Given the description of an element on the screen output the (x, y) to click on. 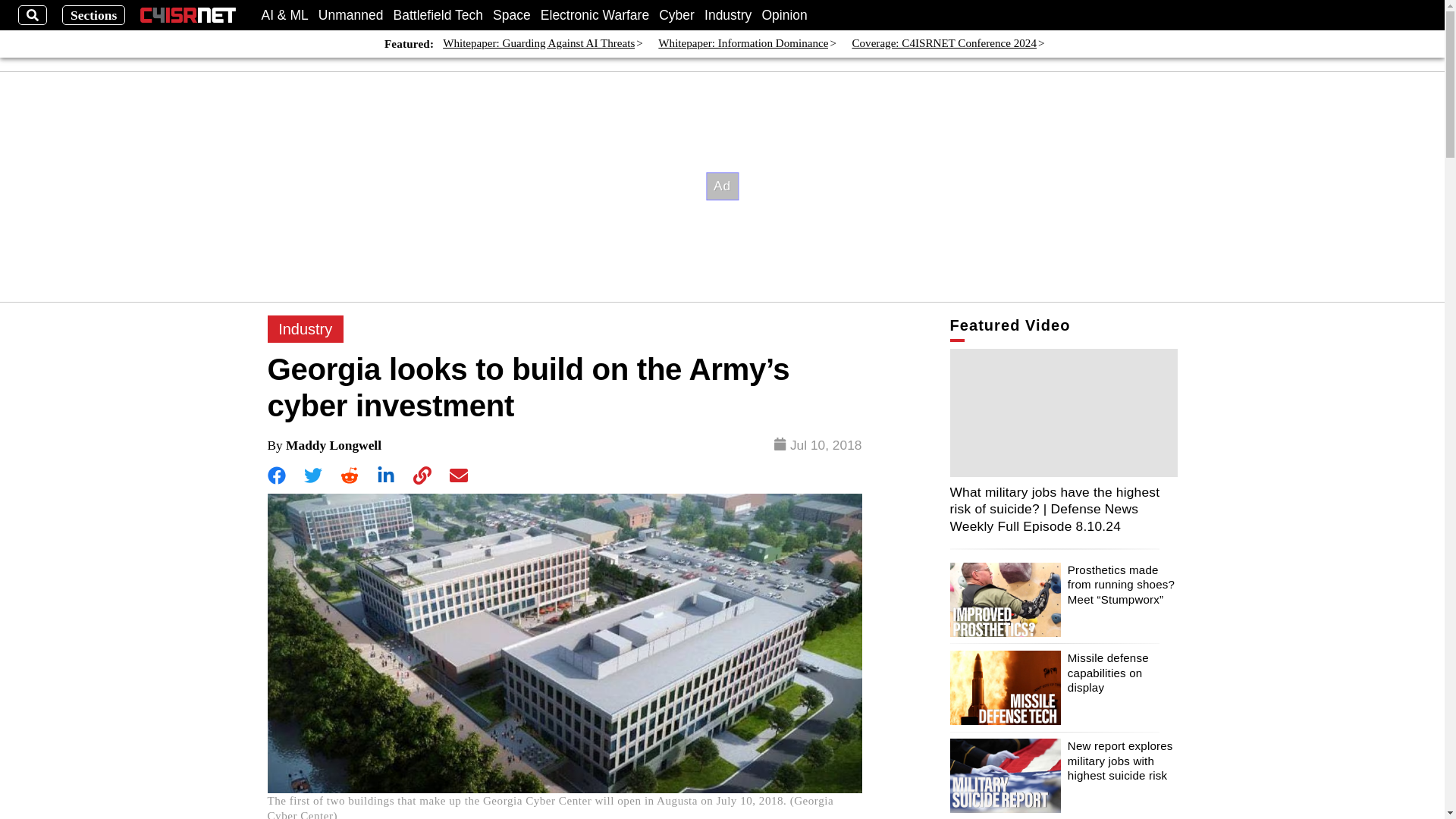
Unmanned (351, 14)
Industry (304, 329)
Battlefield Tech (438, 14)
Space (512, 14)
Whitepaper: Information Dominance (743, 43)
3rd party ad content (722, 186)
Sections (93, 14)
Whitepaper: Guarding Against AI Threats (538, 43)
Opinion (783, 14)
Industry (727, 14)
